Given the description of an element on the screen output the (x, y) to click on. 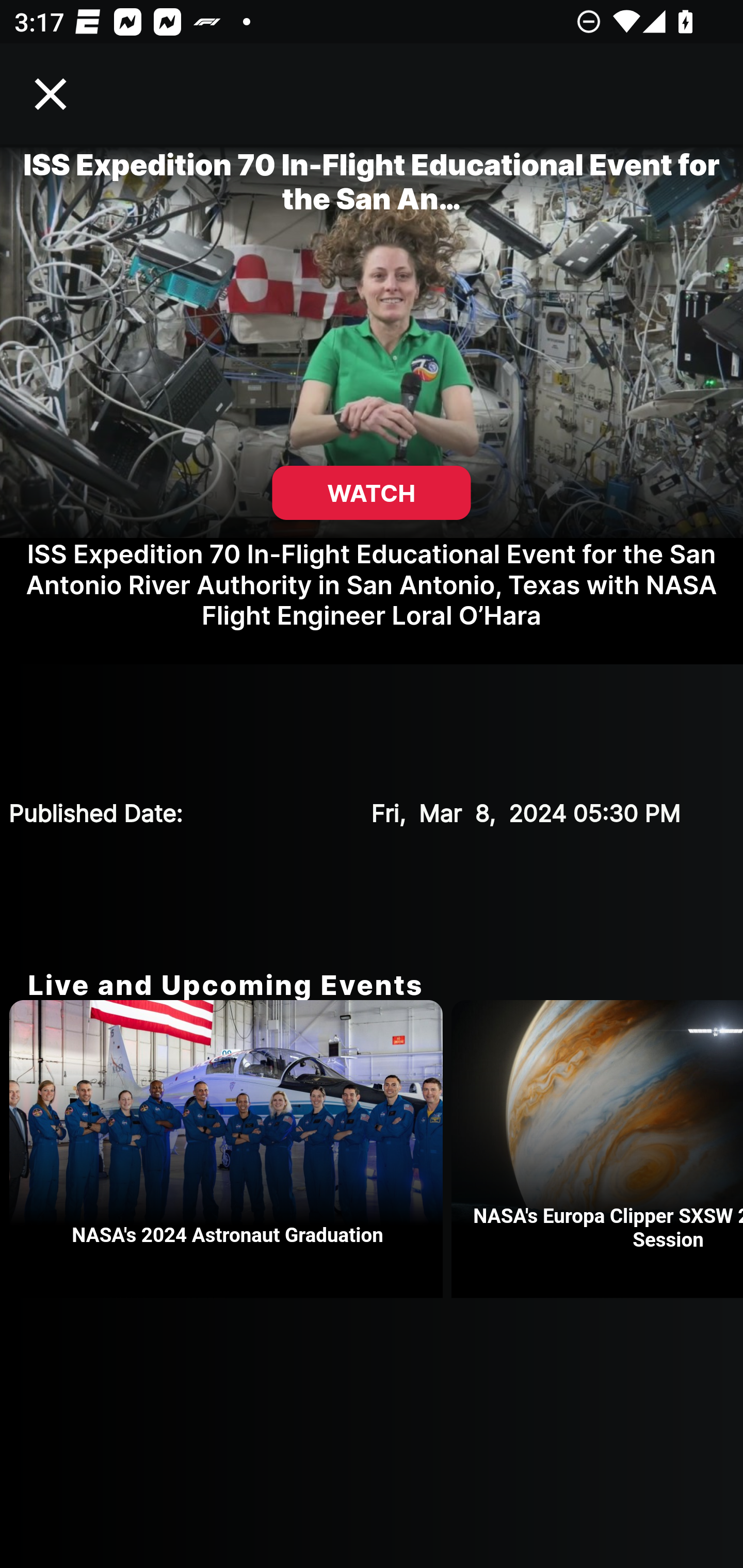
WATCH (371, 492)
NASA's 2024 Astronaut Graduation (229, 1149)
NASA's Europa Clipper SXSW 2024 Opening Session (597, 1149)
